Given the description of an element on the screen output the (x, y) to click on. 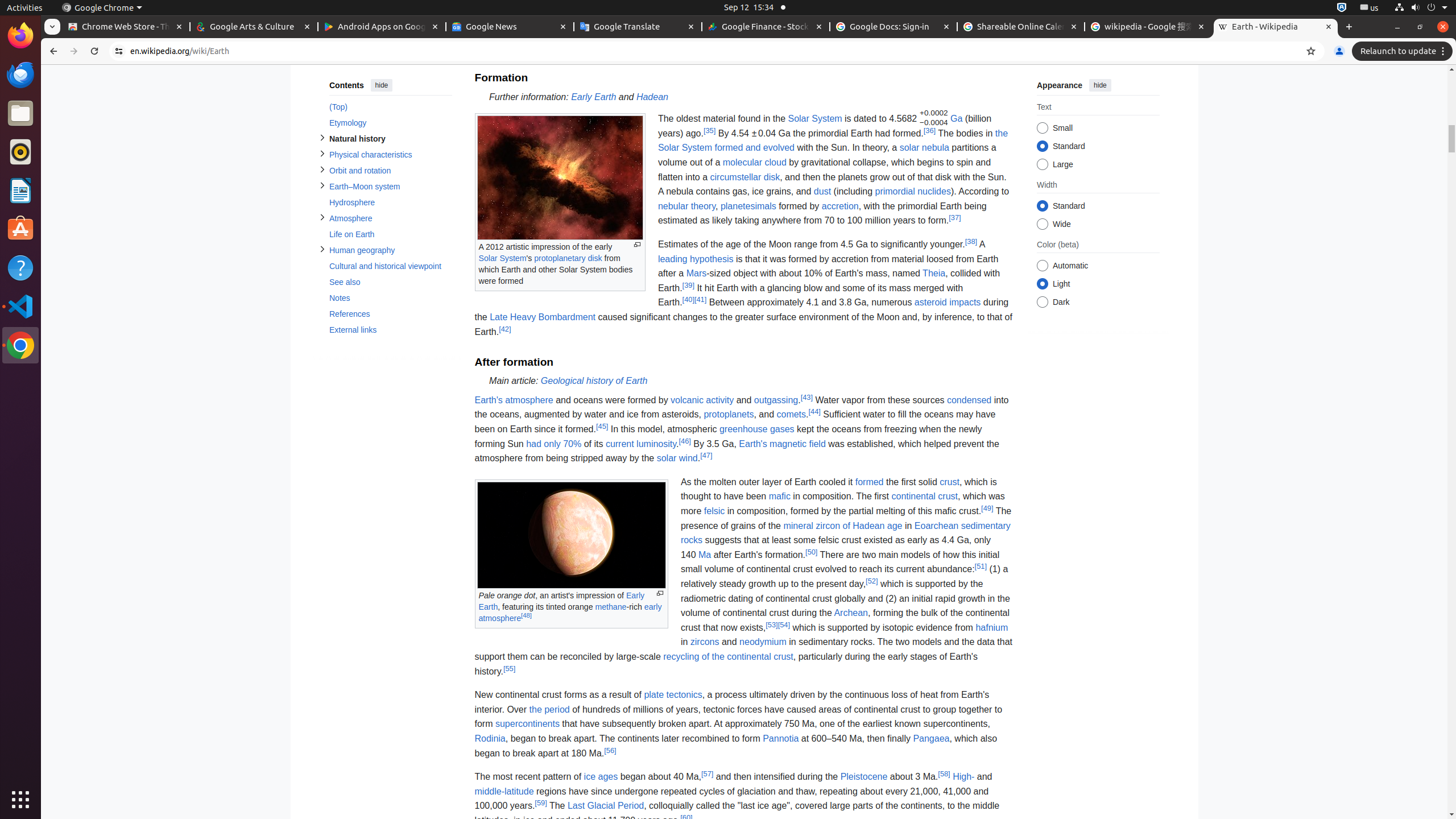
zircons Element type: link (704, 642)
Pannotia Element type: link (780, 738)
Cultural and historical viewpoint Element type: link (390, 266)
Google Arts & Culture - Memory usage - 64.0 MB Element type: page-tab (253, 26)
Shareable Online Calendar and Scheduling - Google Calendar - Memory usage - 88.5 MB Element type: page-tab (1020, 26)
